Given the description of an element on the screen output the (x, y) to click on. 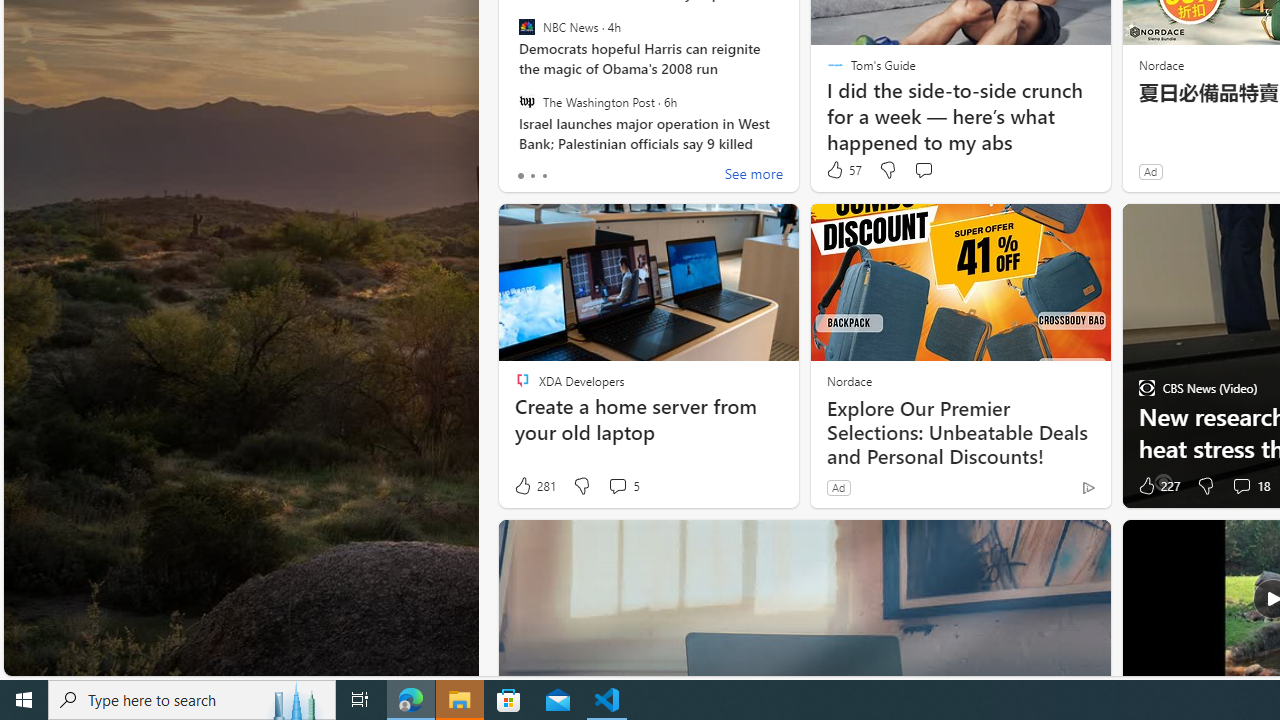
View comments 18 Comment (1249, 485)
View comments 5 Comment (623, 485)
View comments 5 Comment (617, 485)
tab-2 (543, 175)
The Washington Post (526, 101)
281 Like (534, 485)
NBC News (526, 27)
View comments 18 Comment (1241, 485)
